Given the description of an element on the screen output the (x, y) to click on. 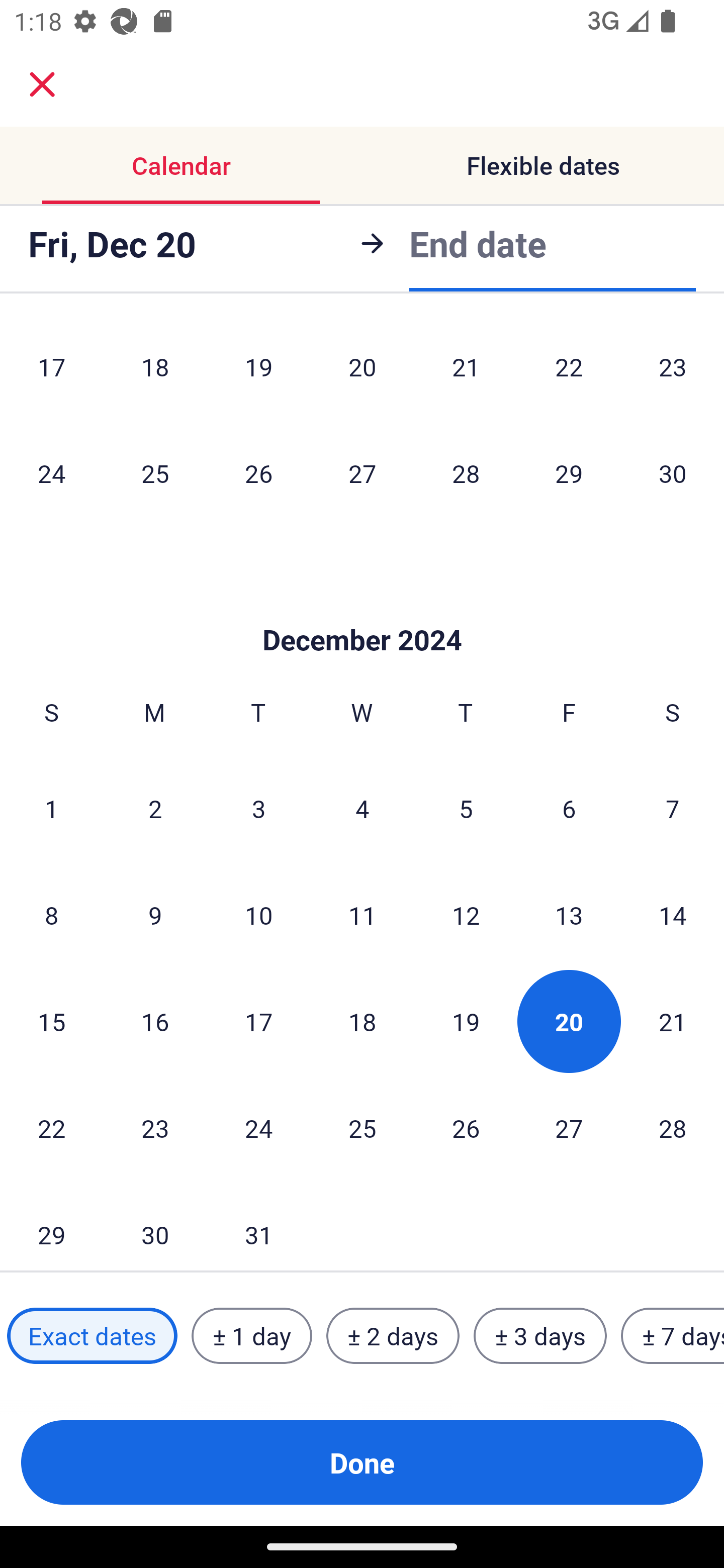
close. (42, 84)
Flexible dates (542, 164)
End date (477, 243)
17 Sunday, November 17, 2024 (51, 369)
18 Monday, November 18, 2024 (155, 369)
19 Tuesday, November 19, 2024 (258, 369)
20 Wednesday, November 20, 2024 (362, 369)
21 Thursday, November 21, 2024 (465, 369)
22 Friday, November 22, 2024 (569, 369)
23 Saturday, November 23, 2024 (672, 369)
24 Sunday, November 24, 2024 (51, 473)
25 Monday, November 25, 2024 (155, 473)
26 Tuesday, November 26, 2024 (258, 473)
27 Wednesday, November 27, 2024 (362, 473)
28 Thursday, November 28, 2024 (465, 473)
29 Friday, November 29, 2024 (569, 473)
30 Saturday, November 30, 2024 (672, 473)
Skip to Done (362, 609)
1 Sunday, December 1, 2024 (51, 808)
2 Monday, December 2, 2024 (155, 808)
3 Tuesday, December 3, 2024 (258, 808)
4 Wednesday, December 4, 2024 (362, 808)
5 Thursday, December 5, 2024 (465, 808)
6 Friday, December 6, 2024 (569, 808)
7 Saturday, December 7, 2024 (672, 808)
8 Sunday, December 8, 2024 (51, 914)
9 Monday, December 9, 2024 (155, 914)
10 Tuesday, December 10, 2024 (258, 914)
11 Wednesday, December 11, 2024 (362, 914)
12 Thursday, December 12, 2024 (465, 914)
13 Friday, December 13, 2024 (569, 914)
14 Saturday, December 14, 2024 (672, 914)
15 Sunday, December 15, 2024 (51, 1021)
16 Monday, December 16, 2024 (155, 1021)
17 Tuesday, December 17, 2024 (258, 1021)
18 Wednesday, December 18, 2024 (362, 1021)
19 Thursday, December 19, 2024 (465, 1021)
21 Saturday, December 21, 2024 (672, 1021)
22 Sunday, December 22, 2024 (51, 1128)
23 Monday, December 23, 2024 (155, 1128)
24 Tuesday, December 24, 2024 (258, 1128)
25 Wednesday, December 25, 2024 (362, 1128)
26 Thursday, December 26, 2024 (465, 1128)
27 Friday, December 27, 2024 (569, 1128)
28 Saturday, December 28, 2024 (672, 1128)
29 Sunday, December 29, 2024 (51, 1226)
30 Monday, December 30, 2024 (155, 1226)
31 Tuesday, December 31, 2024 (258, 1226)
Exact dates (92, 1335)
± 1 day (251, 1335)
± 2 days (392, 1335)
± 3 days (539, 1335)
± 7 days (672, 1335)
Done (361, 1462)
